Given the description of an element on the screen output the (x, y) to click on. 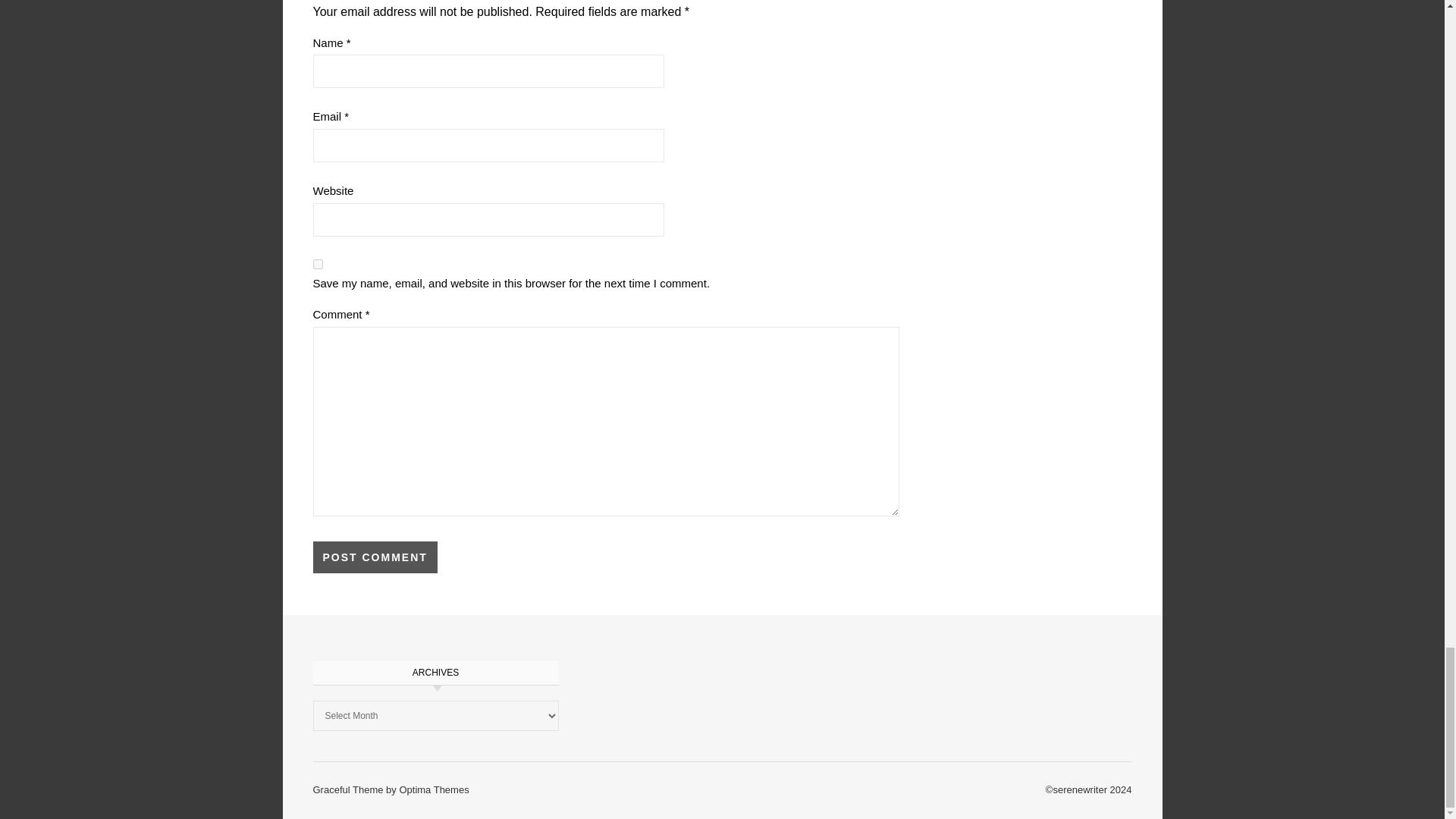
Post Comment (374, 557)
Post Comment (374, 557)
yes (317, 264)
